Given the description of an element on the screen output the (x, y) to click on. 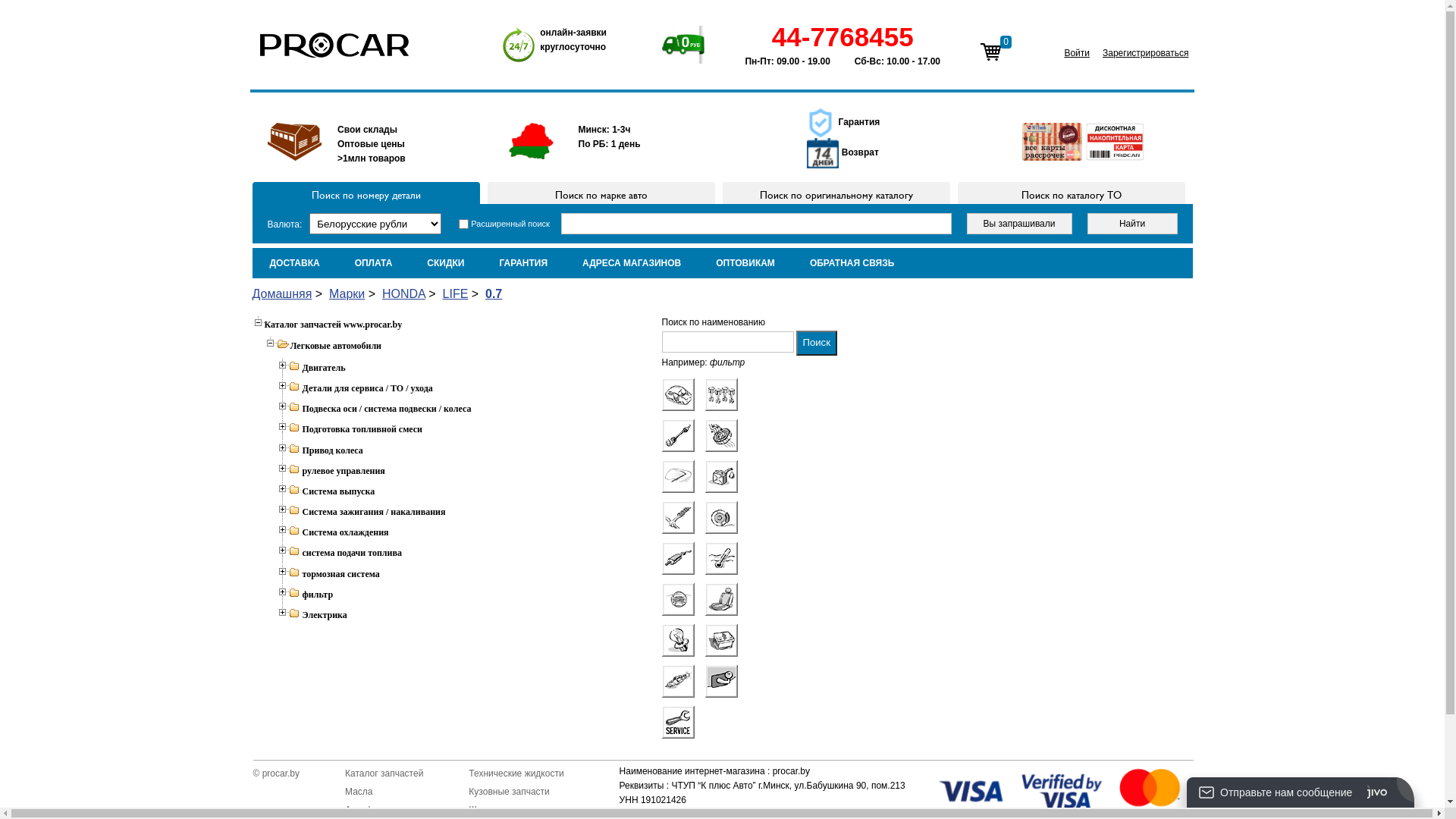
0.7 Element type: text (493, 293)
0 Element type: text (990, 51)
LIFE Element type: text (455, 293)
HONDA Element type: text (403, 293)
